Given the description of an element on the screen output the (x, y) to click on. 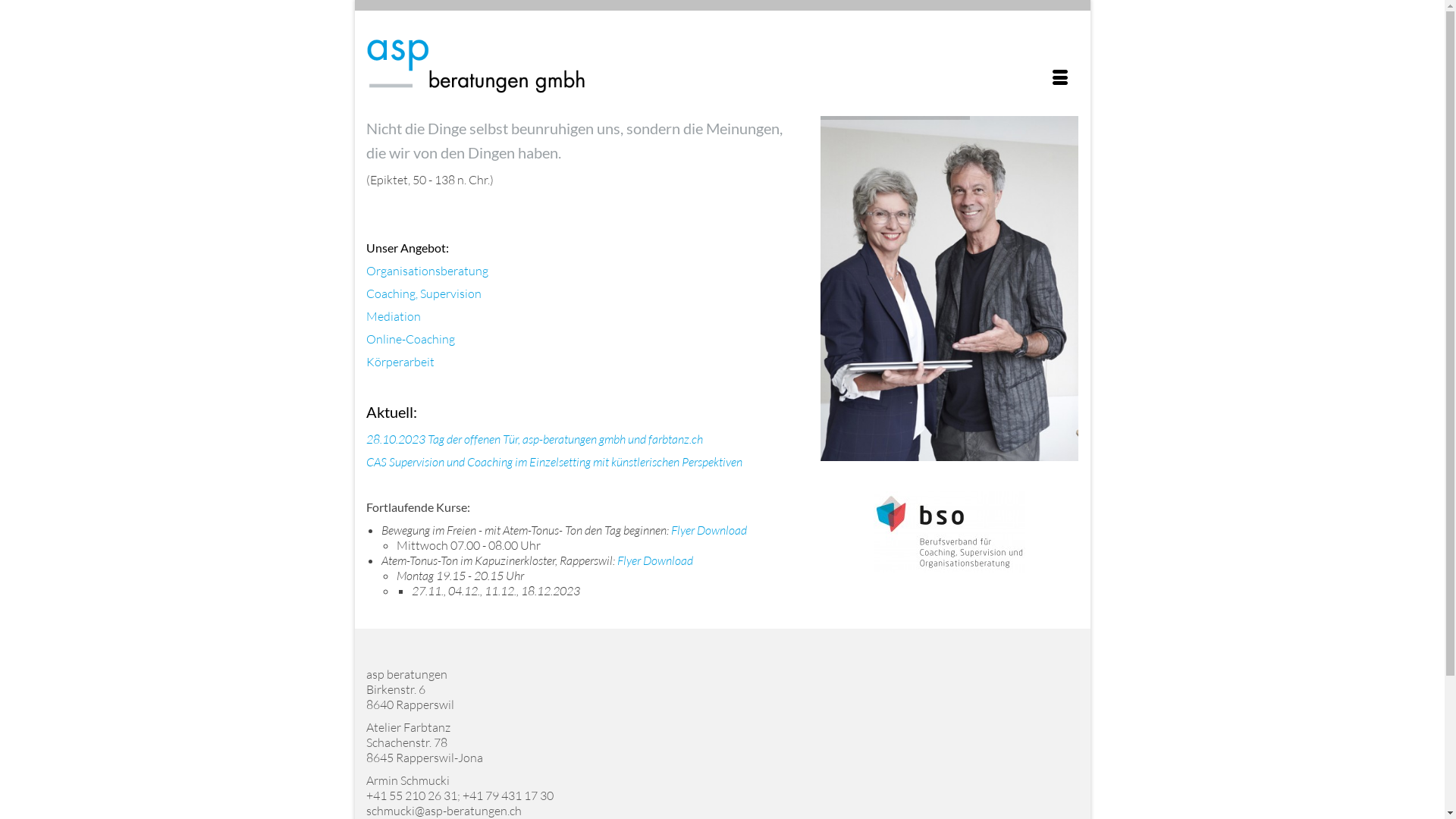
Coaching, Element type: text (391, 293)
schmucki@asp-beratungen.ch Element type: text (442, 810)
Flyer Download Element type: text (708, 529)
Online-Coaching Element type: text (409, 338)
  Element type: text (695, 559)
Supervision Element type: text (450, 293)
Flyer Download Element type: text (655, 559)
Mediation Element type: text (392, 315)
Organisationsberatung Element type: text (426, 270)
